Given the description of an element on the screen output the (x, y) to click on. 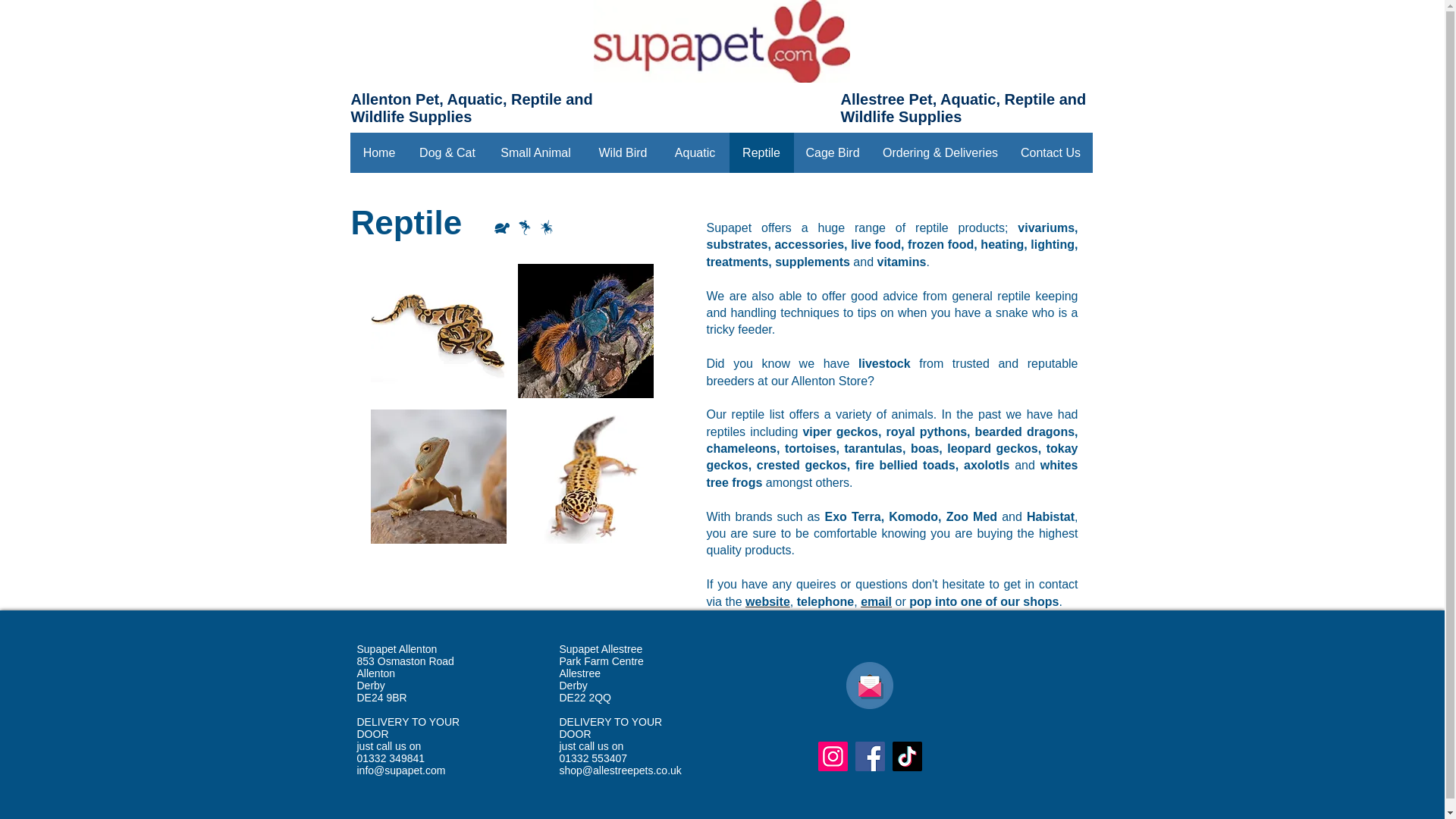
Aquatic (695, 152)
Wild Bird (623, 152)
Home (379, 152)
website (767, 601)
Cage Bird (831, 152)
email (875, 601)
Reptile (761, 152)
Small Animal (535, 152)
scaled down logo.jpg (720, 41)
Contact Us (1050, 152)
